Given the description of an element on the screen output the (x, y) to click on. 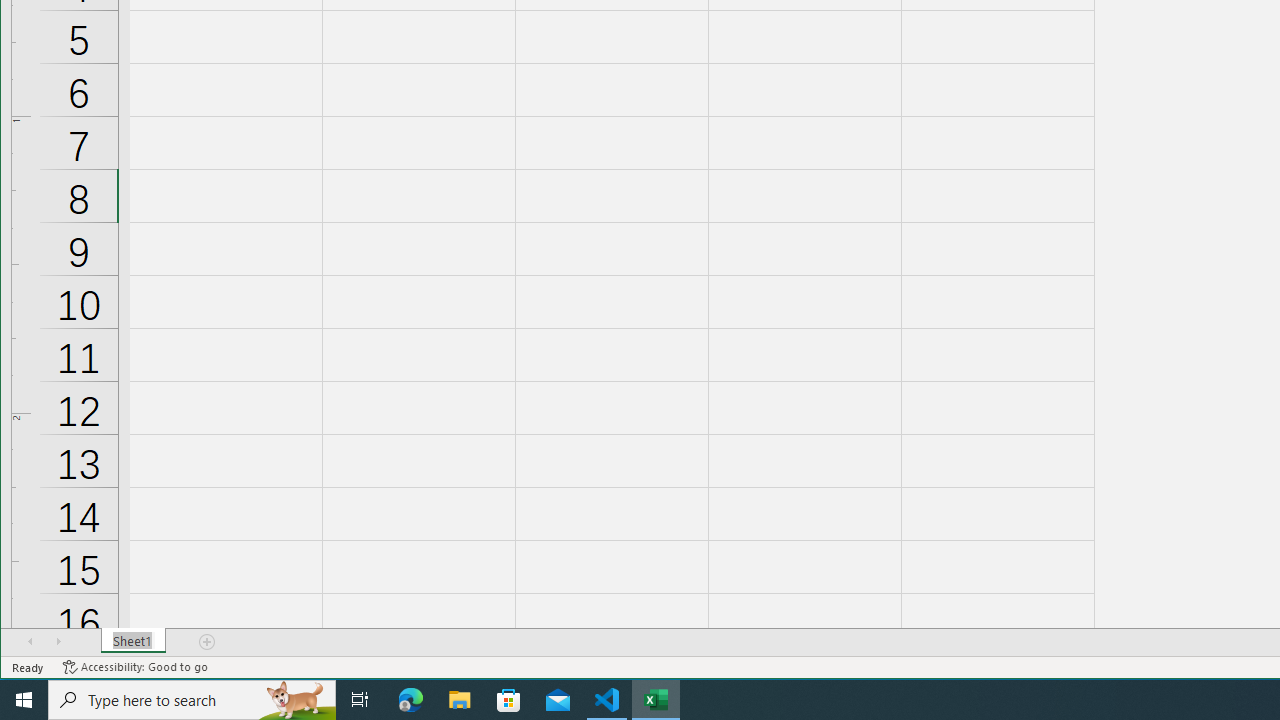
Search highlights icon opens search home window (295, 699)
Task View (359, 699)
Sheet Tab (133, 641)
Start (24, 699)
File Explorer (460, 699)
Type here to search (191, 699)
Excel - 1 running window (656, 699)
Microsoft Edge (411, 699)
Microsoft Store (509, 699)
